Given the description of an element on the screen output the (x, y) to click on. 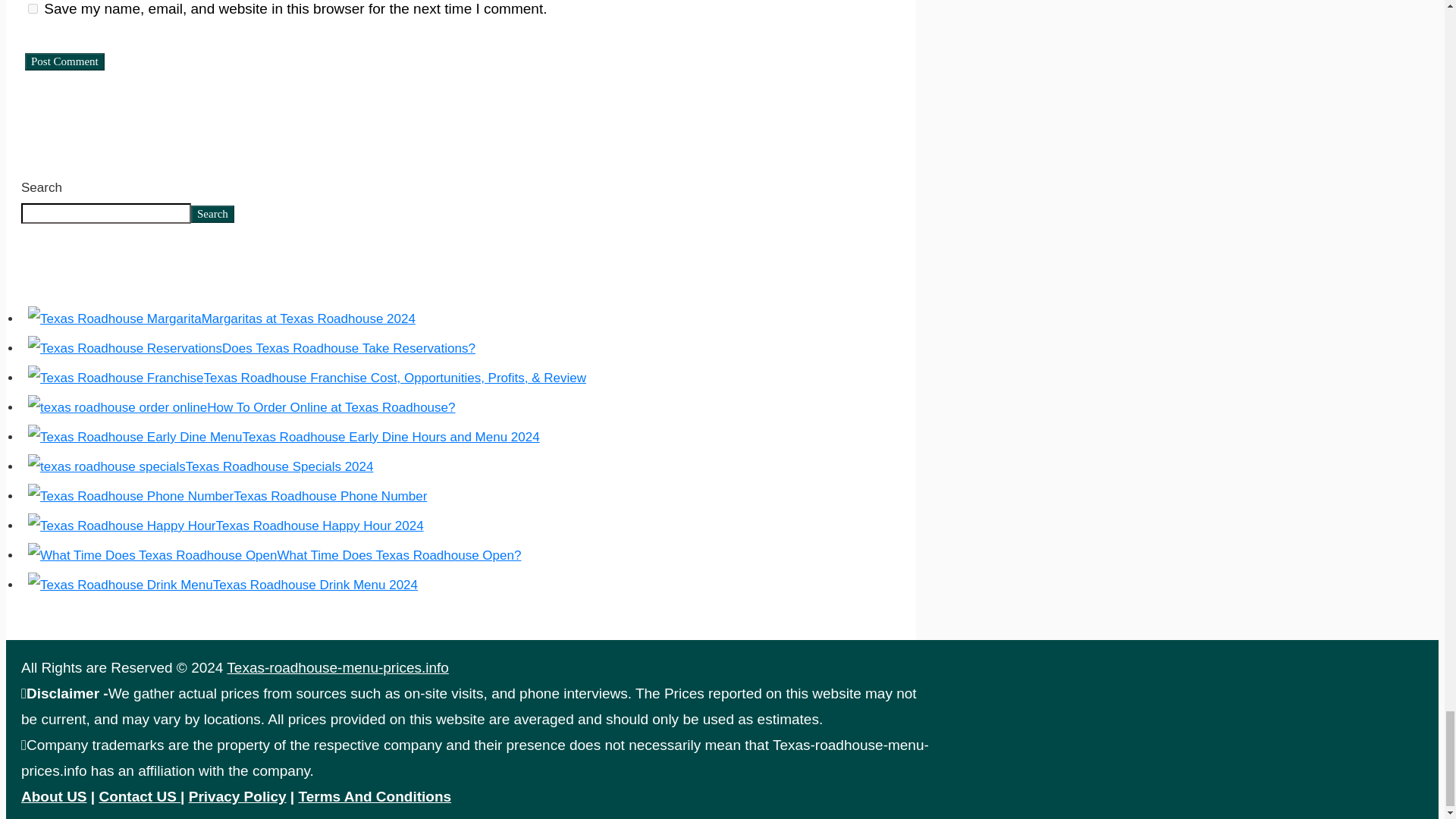
Post Comment (64, 61)
yes (32, 8)
